Given the description of an element on the screen output the (x, y) to click on. 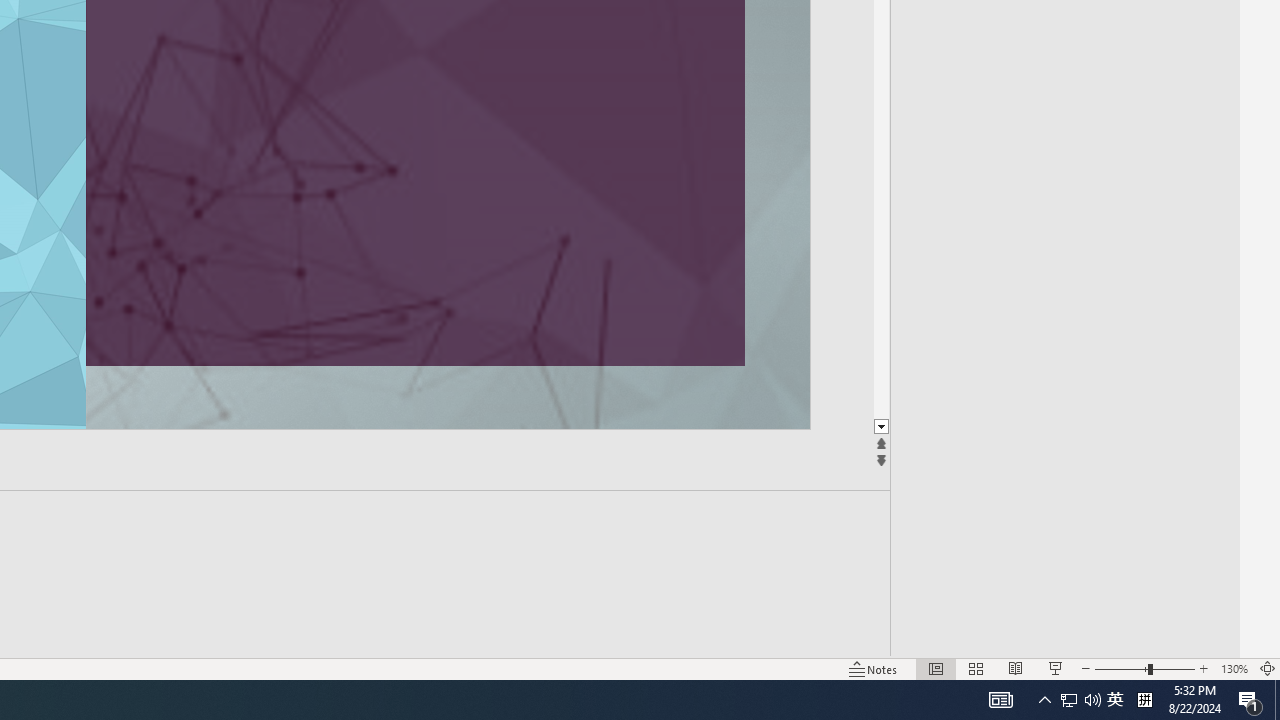
Zoom 130% (1234, 668)
